Given the description of an element on the screen output the (x, y) to click on. 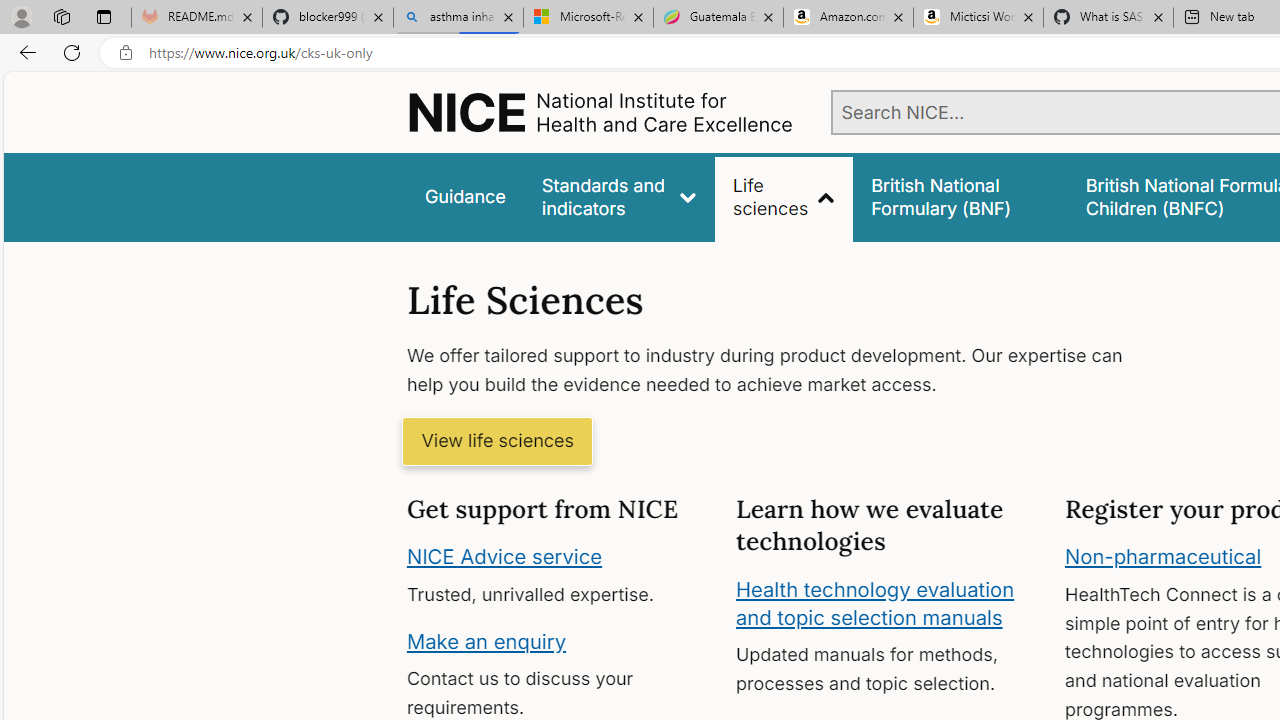
asthma inhaler - Search (458, 17)
Non-pharmaceutical (1163, 557)
Guidance (464, 196)
View life sciences (497, 441)
Make an enquiry (486, 640)
Guidance (464, 196)
